Given the description of an element on the screen output the (x, y) to click on. 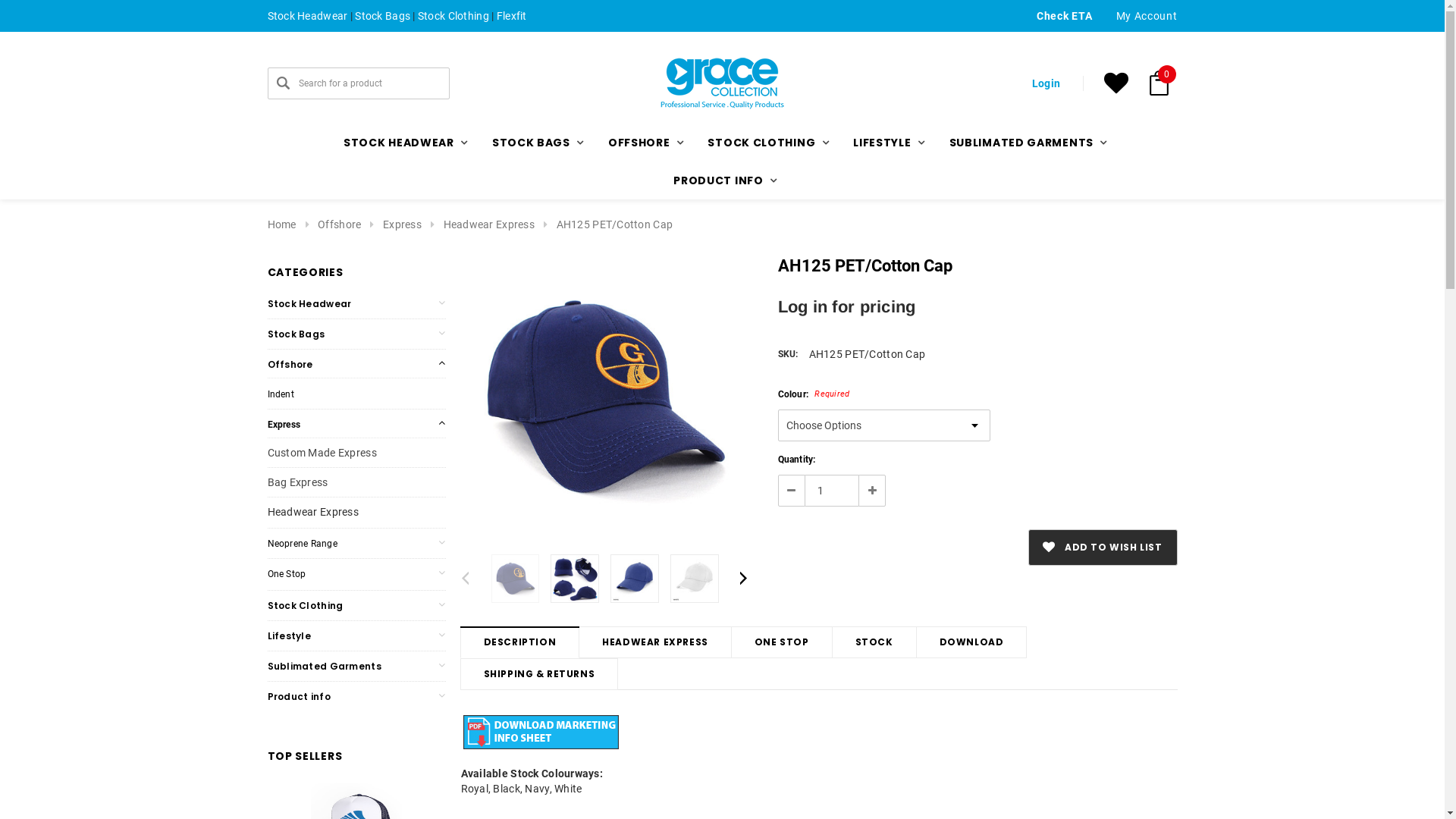
Indent Element type: text (279, 394)
STOCK HEADWEAR Element type: text (402, 142)
AH125 PET/Cotton Cap Element type: hover (694, 578)
Offshore Element type: text (338, 224)
ADD TO WISH LIST Element type: text (1102, 547)
Stock Clothing Element type: text (304, 605)
Headwear Express Element type: text (311, 511)
Stock Headwear Element type: text (308, 303)
Check ETA Element type: text (1064, 15)
AH125 PET/Cotton Cap Element type: hover (574, 578)
Express Element type: text (401, 224)
Decrease Quantity: Element type: text (791, 490)
Sublimated Garments Element type: text (323, 665)
Increase Quantity: Element type: text (871, 490)
AH125 PET/Cotton Cap Element type: hover (605, 398)
STOCK CLOTHING Element type: text (764, 142)
LIFESTYLE Element type: text (885, 142)
OFFSHORE Element type: text (643, 142)
Stock Bags Element type: text (295, 333)
PRODUCT INFO Element type: text (721, 180)
Stock Clothing Element type: text (453, 15)
Lifestyle Element type: text (288, 635)
Product info Element type: text (297, 696)
AH125 PET/Cotton Cap Element type: hover (515, 578)
AH125 PET/Cotton Cap Element type: text (614, 224)
Wish lists Element type: hover (1116, 83)
Headwear Express Element type: text (488, 224)
Bag Express Element type: text (296, 482)
STOCK BAGS Element type: text (534, 142)
Custom Made Express Element type: text (321, 452)
My Account Element type: text (1146, 15)
Neoprene Range Element type: text (301, 543)
Offshore Element type: text (289, 363)
Home Element type: text (280, 224)
Express Element type: text (283, 424)
Flexfit Element type: text (511, 15)
One Stop Element type: text (285, 573)
AH125 PET/Cotton Cap Element type: hover (634, 578)
Login Element type: text (1123, 245)
Login Element type: text (1046, 83)
0 Element type: text (1158, 82)
SUBLIMATED GARMENTS Element type: text (1025, 142)
Stock Headwear Element type: text (306, 15)
Grace Collection - Headwear, Bags and Clothing. Element type: hover (722, 82)
Stock Bags Element type: text (382, 15)
